Given the description of an element on the screen output the (x, y) to click on. 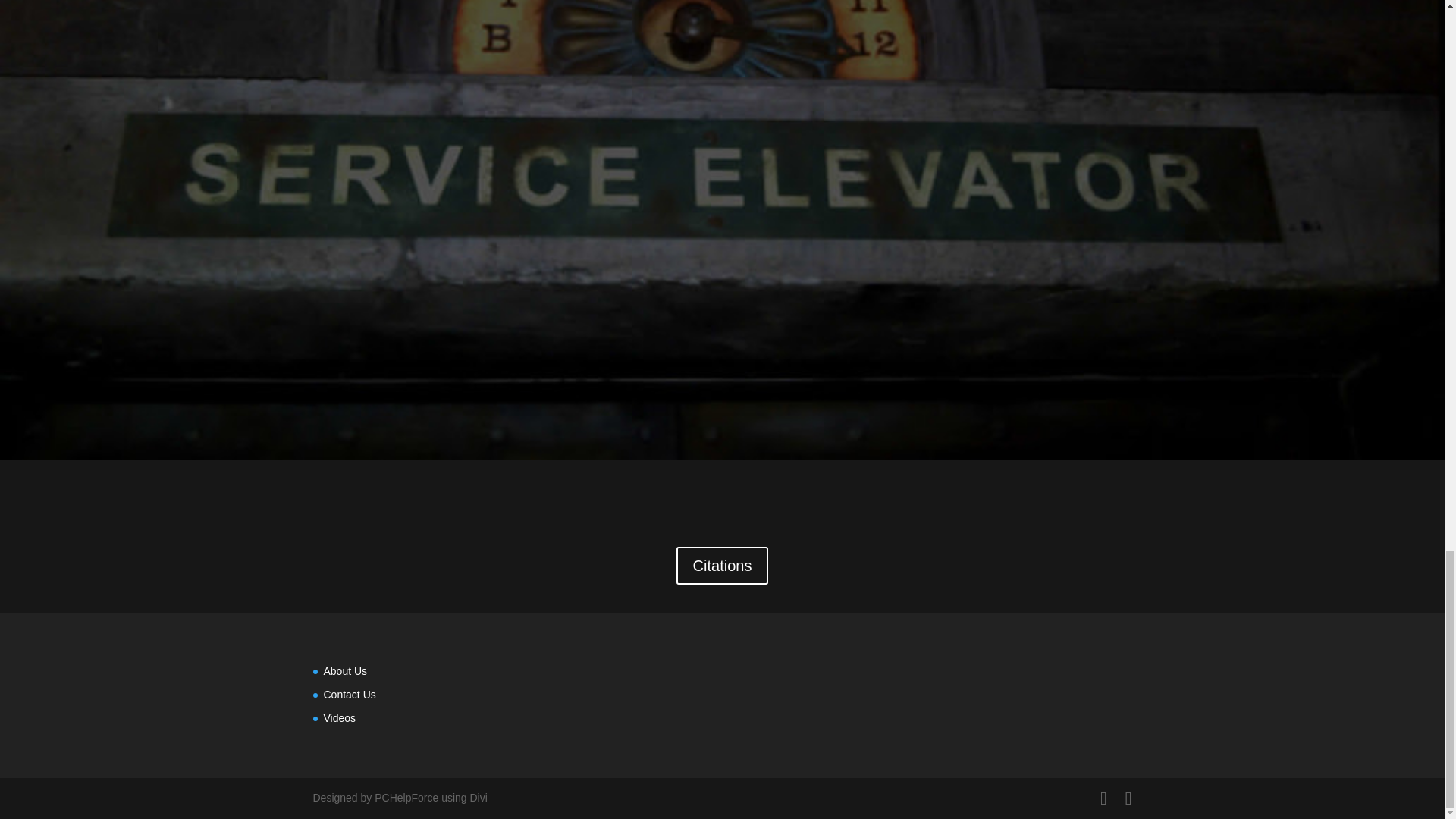
About Us (344, 671)
Videos (339, 717)
Contact Us (349, 694)
Citations (722, 565)
